Given the description of an element on the screen output the (x, y) to click on. 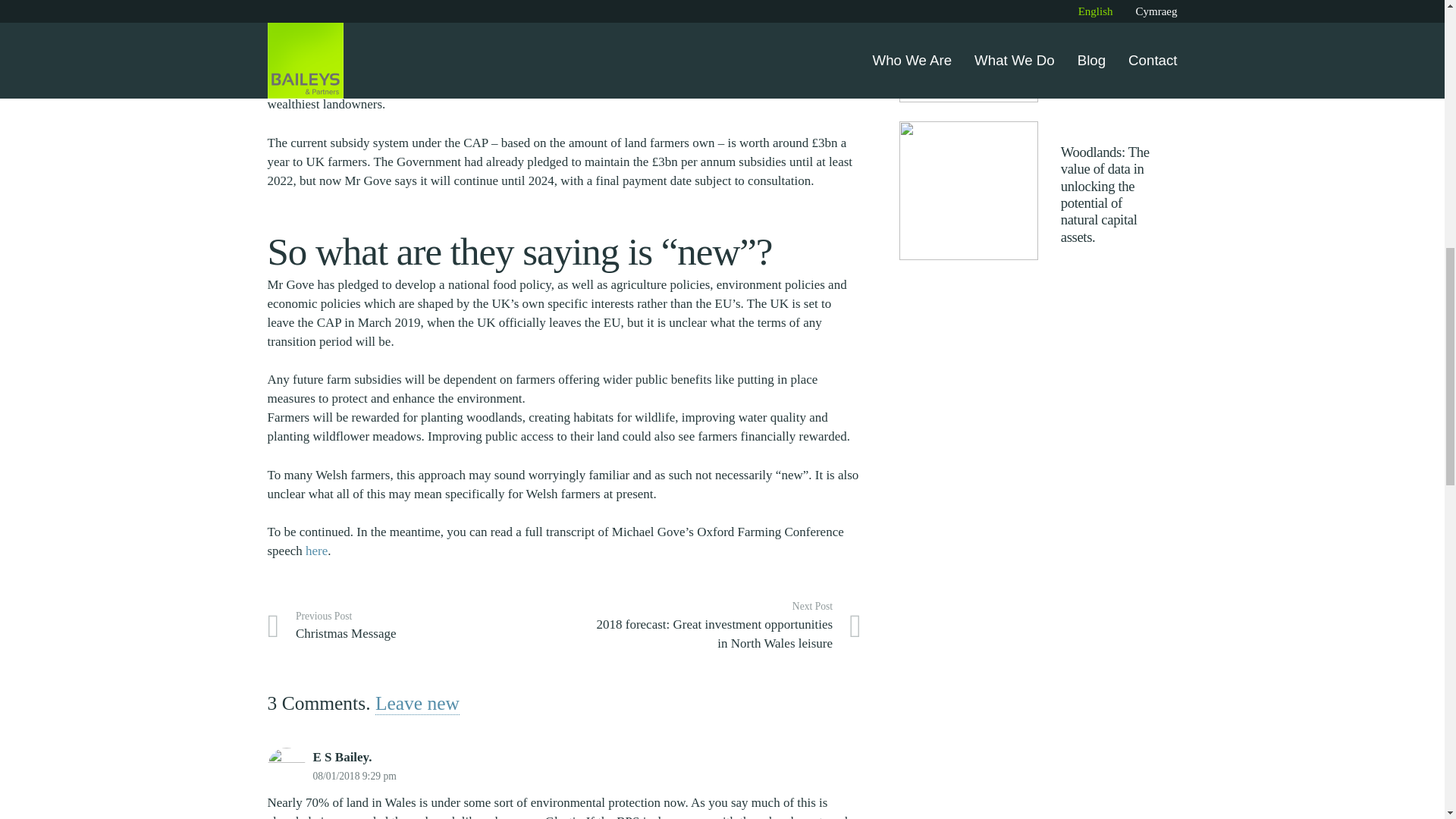
Back to top (1413, 26)
Leave new (417, 703)
here (316, 550)
Christmas Message (414, 625)
